Given the description of an element on the screen output the (x, y) to click on. 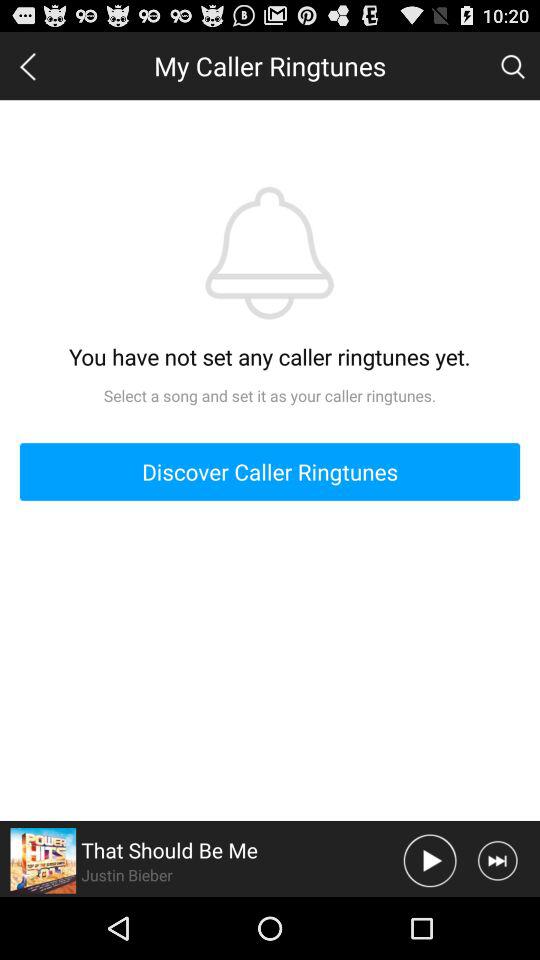
open search bar (512, 65)
